Given the description of an element on the screen output the (x, y) to click on. 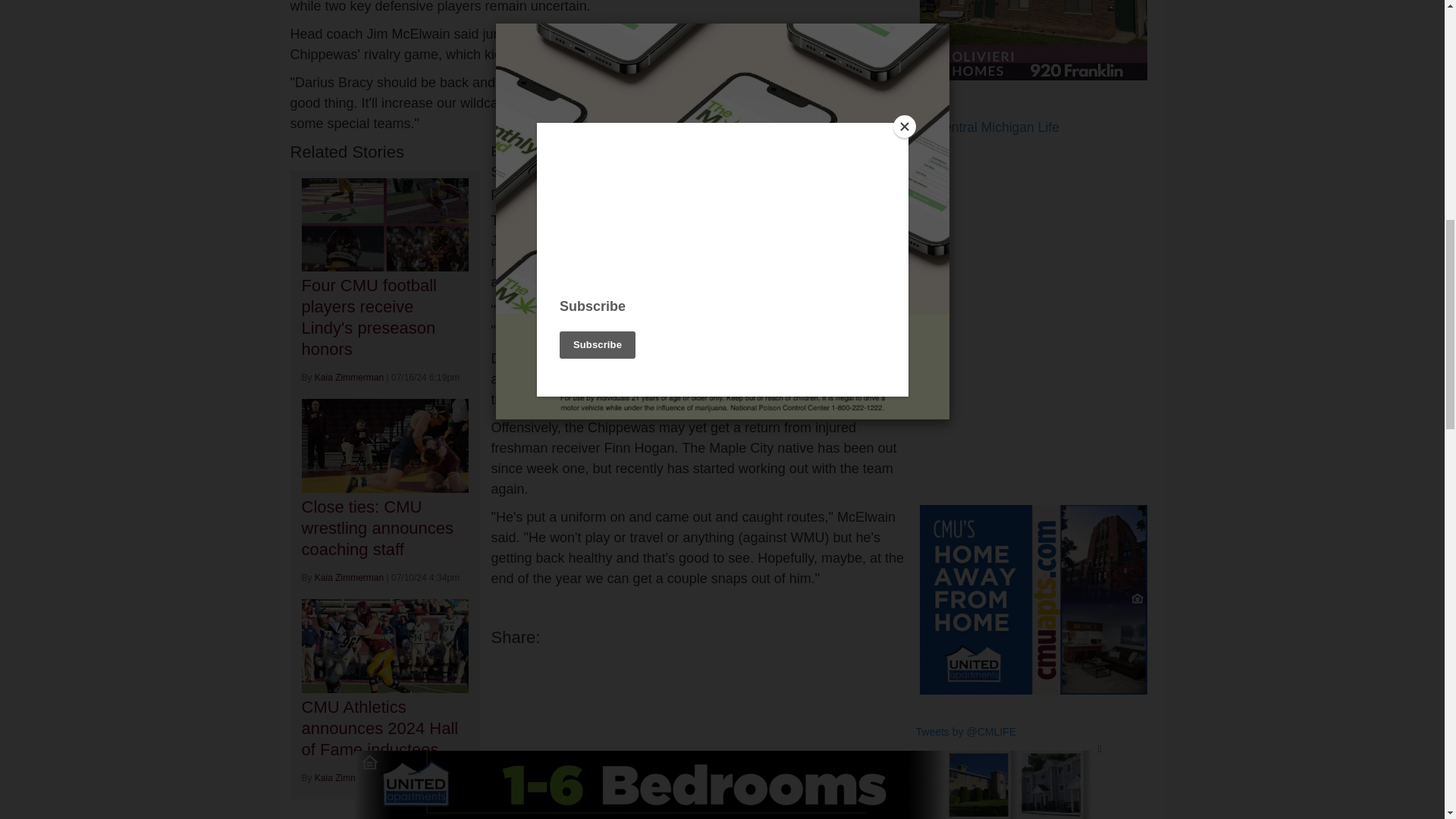
CMUApts.com (1032, 599)
OM-HOUSING.COM (1032, 40)
